Given the description of an element on the screen output the (x, y) to click on. 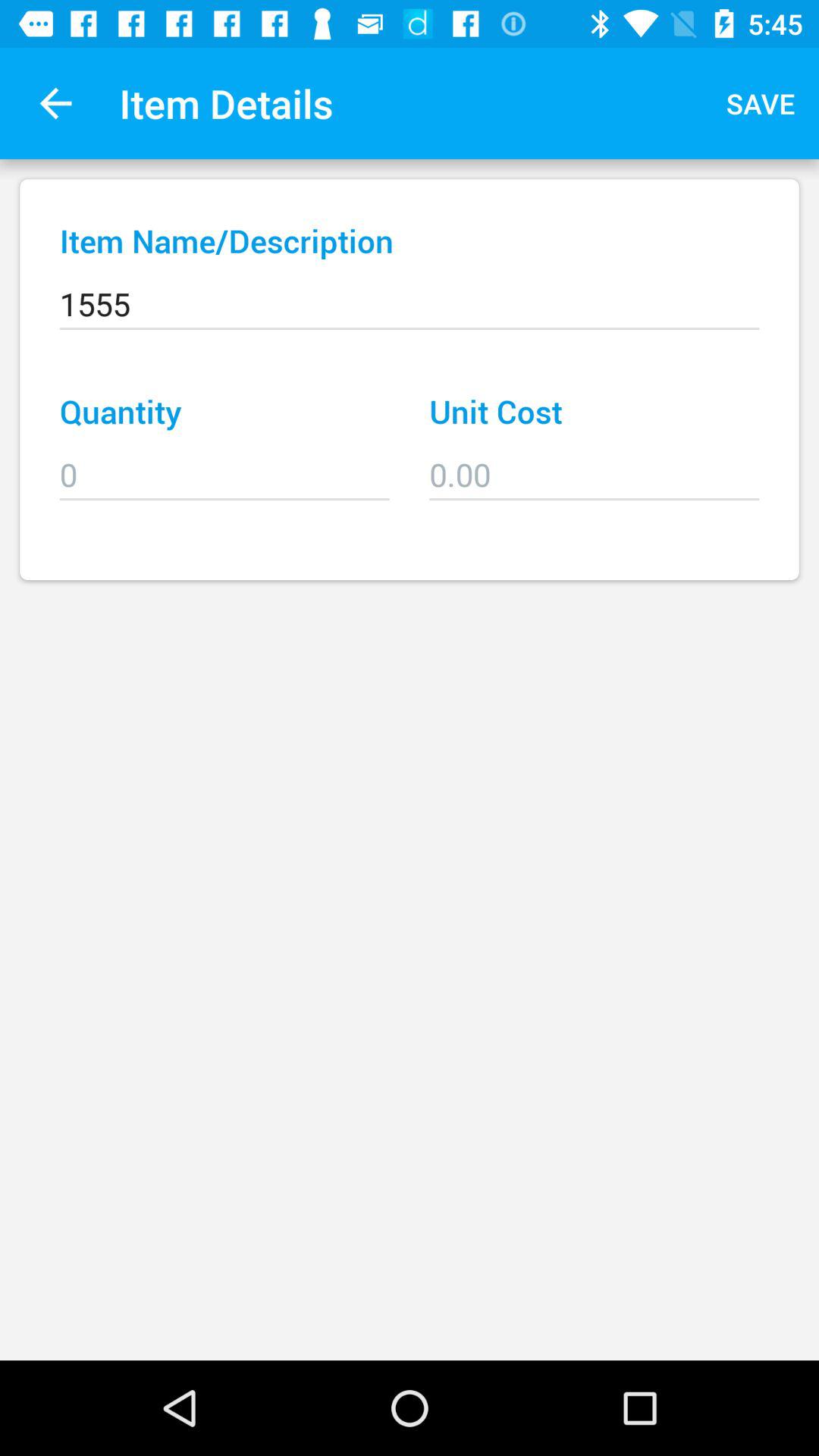
open the item next to the quantity item (594, 463)
